Given the description of an element on the screen output the (x, y) to click on. 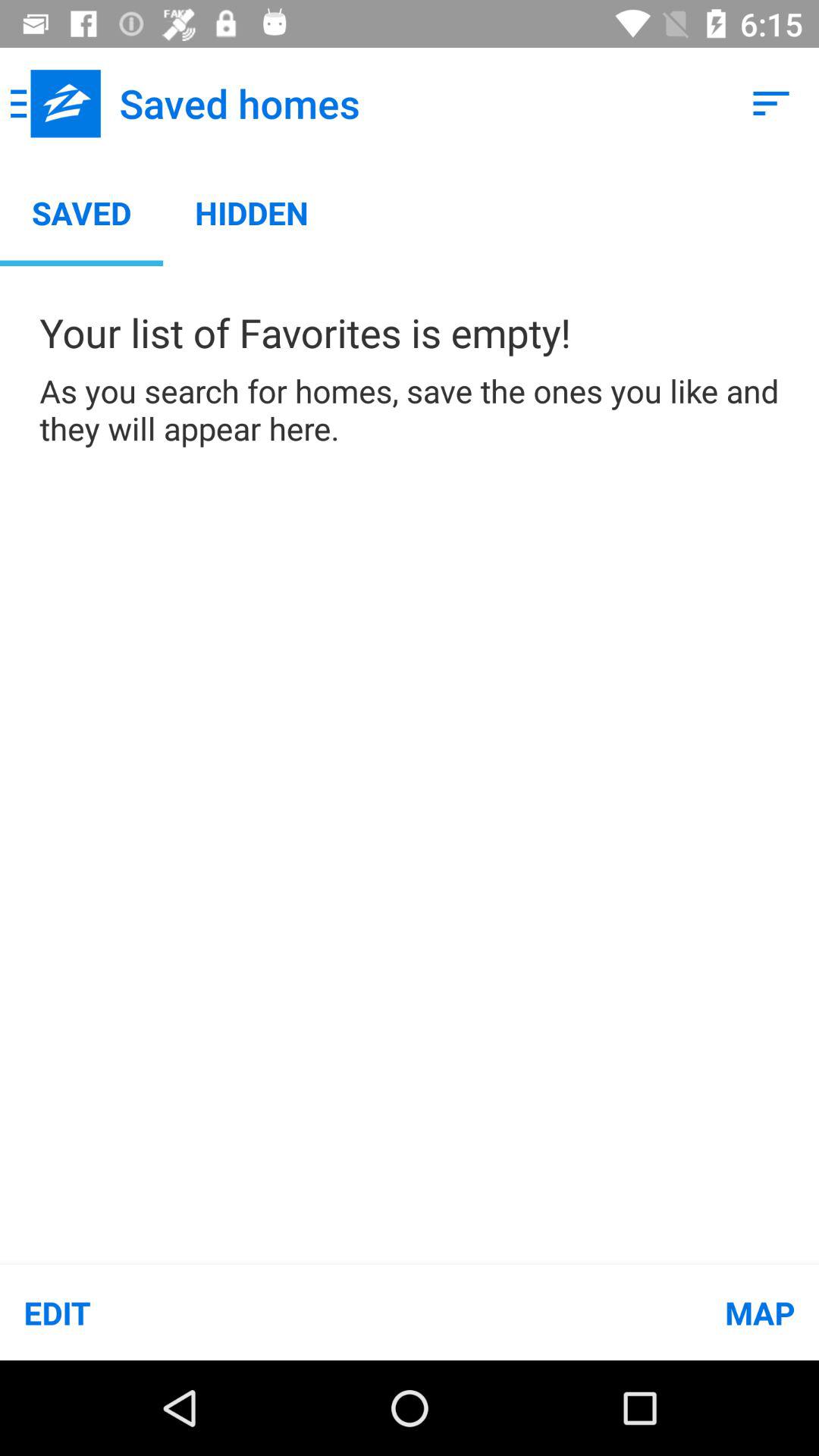
tap the icon to the right of the edit icon (614, 1312)
